Given the description of an element on the screen output the (x, y) to click on. 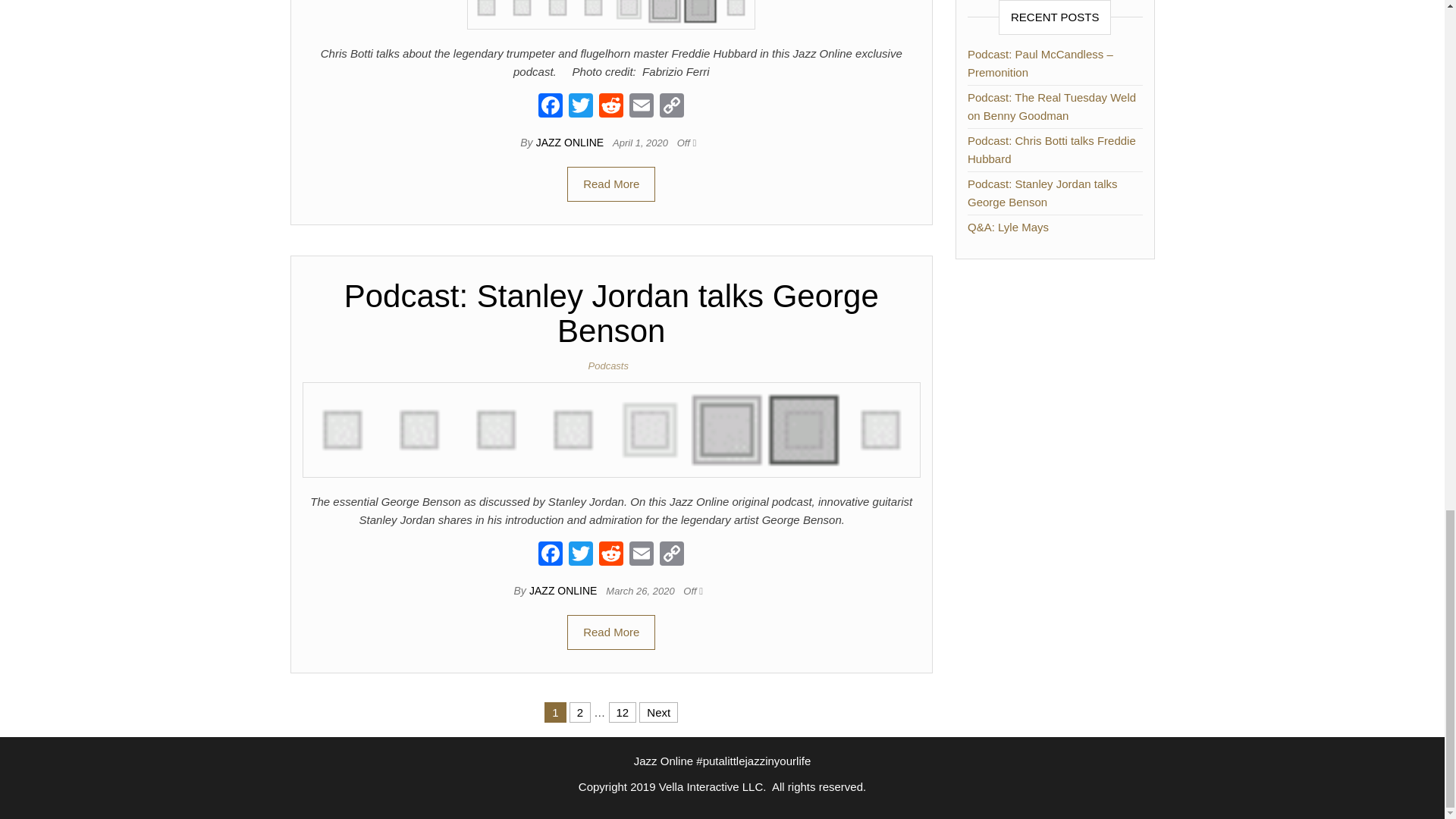
Reddit (610, 107)
Twitter (580, 107)
Facebook (550, 107)
Facebook (550, 555)
Podcasts (611, 365)
Email (641, 107)
Twitter (580, 555)
Copy Link (671, 107)
Read More (611, 184)
JAZZ ONLINE (571, 142)
